Given the description of an element on the screen output the (x, y) to click on. 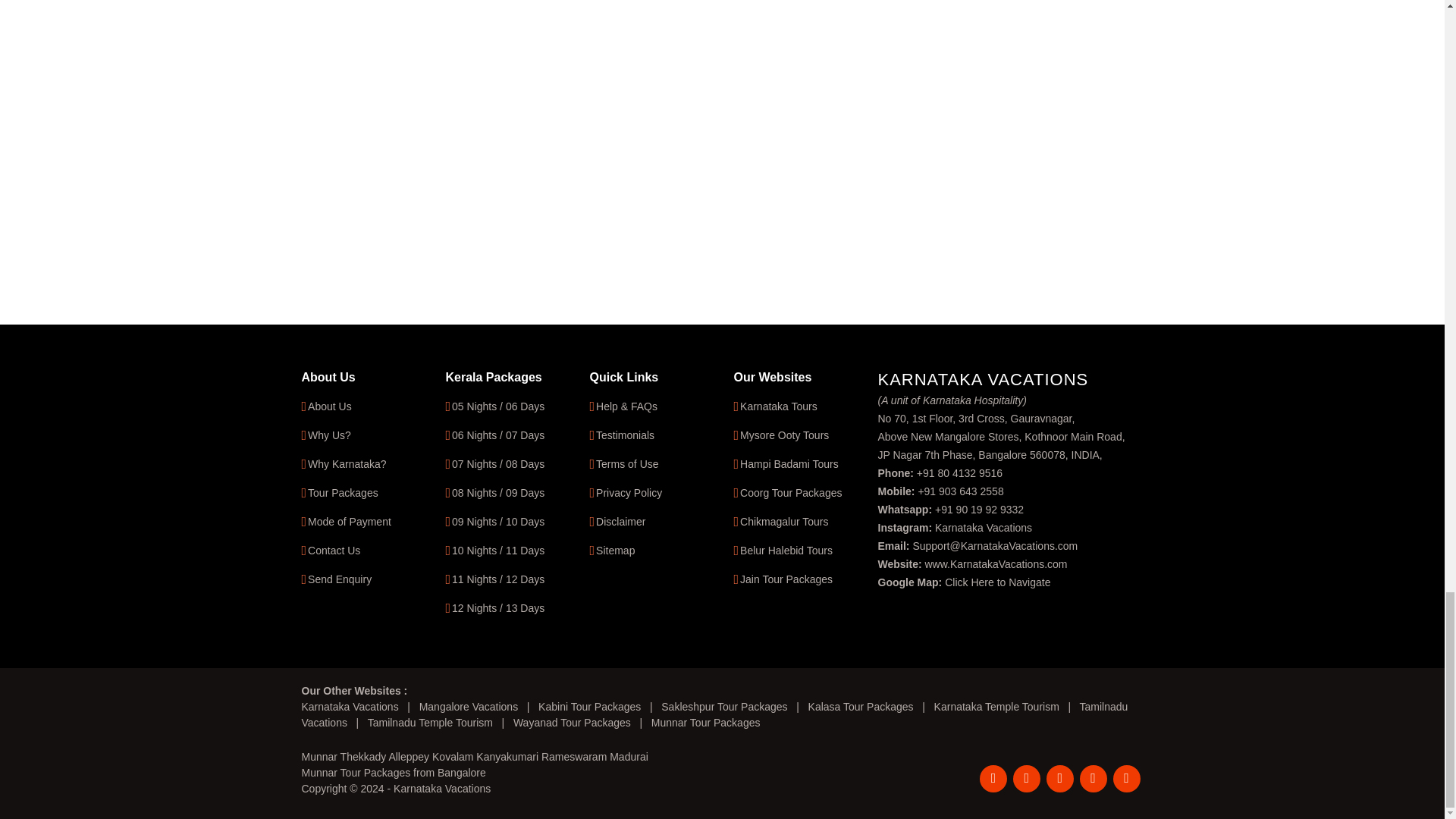
Mode of Payment (349, 521)
Privacy Policy (628, 492)
Why Us? (328, 434)
Contact Us (333, 550)
Send Enquiry (339, 579)
Testimonials (624, 434)
About Karnataka Vacations (329, 406)
Why Karnataka? (347, 463)
Why Karnataka Vacations for your travel needs? (328, 434)
Terms of Use (626, 463)
About Us (329, 406)
Tour Packages (342, 492)
